Given the description of an element on the screen output the (x, y) to click on. 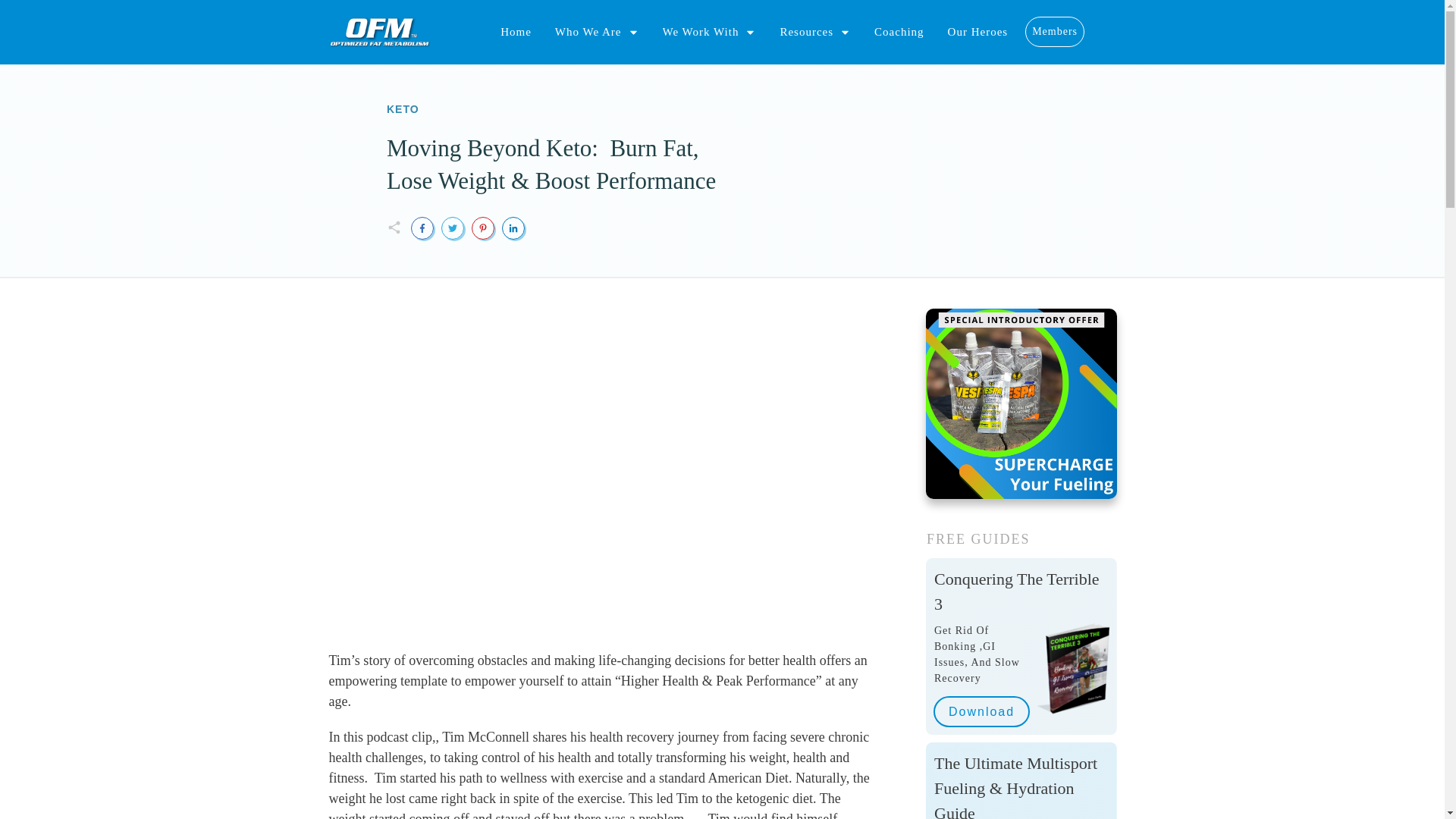
Download (981, 711)
Resources (814, 31)
We Work With (709, 31)
Coaching (899, 31)
Our Heroes (978, 31)
Keto (403, 109)
vespa-sidebar-2 (1021, 403)
KETO (403, 109)
Who We Are (596, 31)
Home (515, 31)
Members (1054, 31)
